Given the description of an element on the screen output the (x, y) to click on. 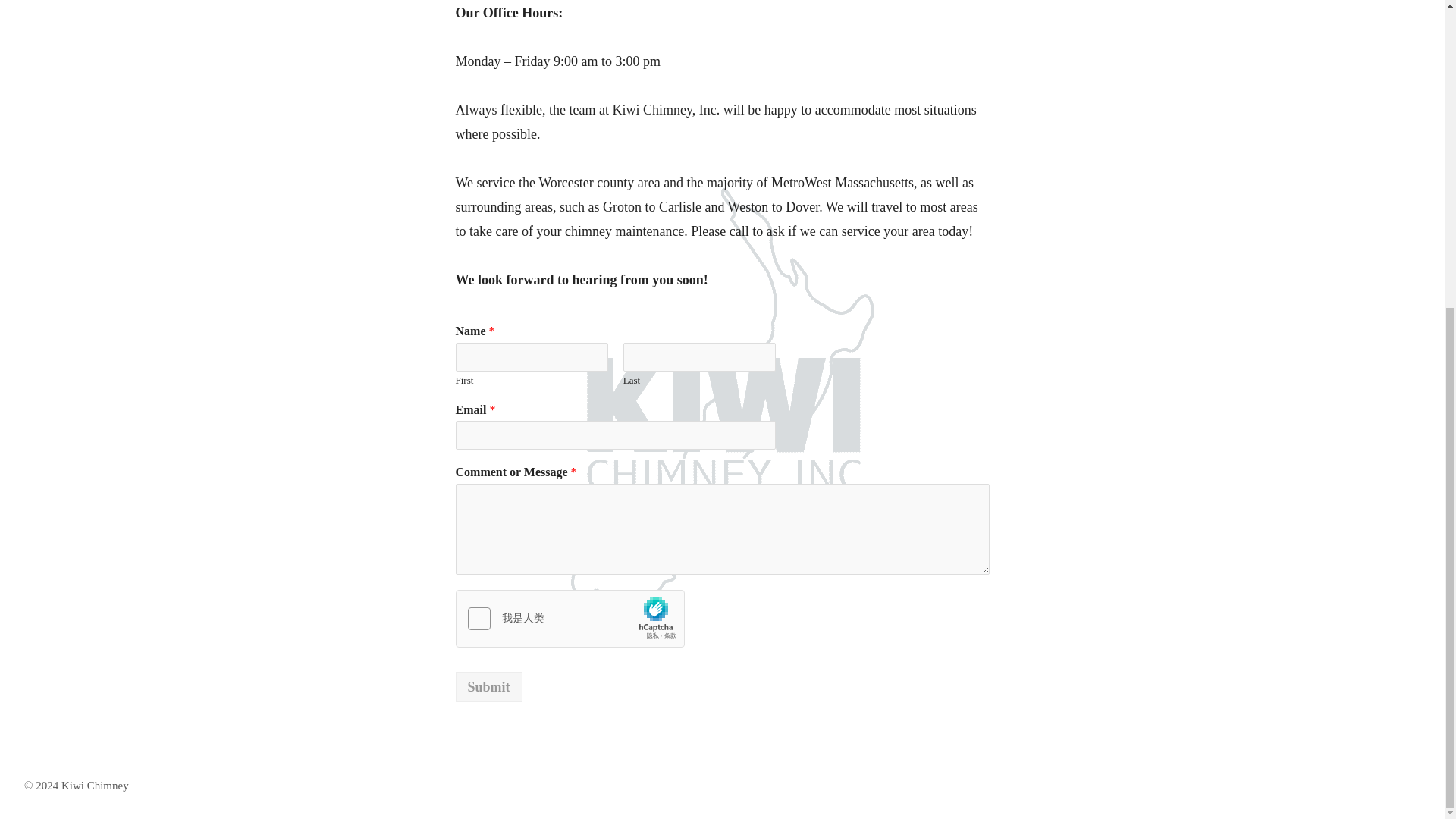
Submit (487, 686)
